Given the description of an element on the screen output the (x, y) to click on. 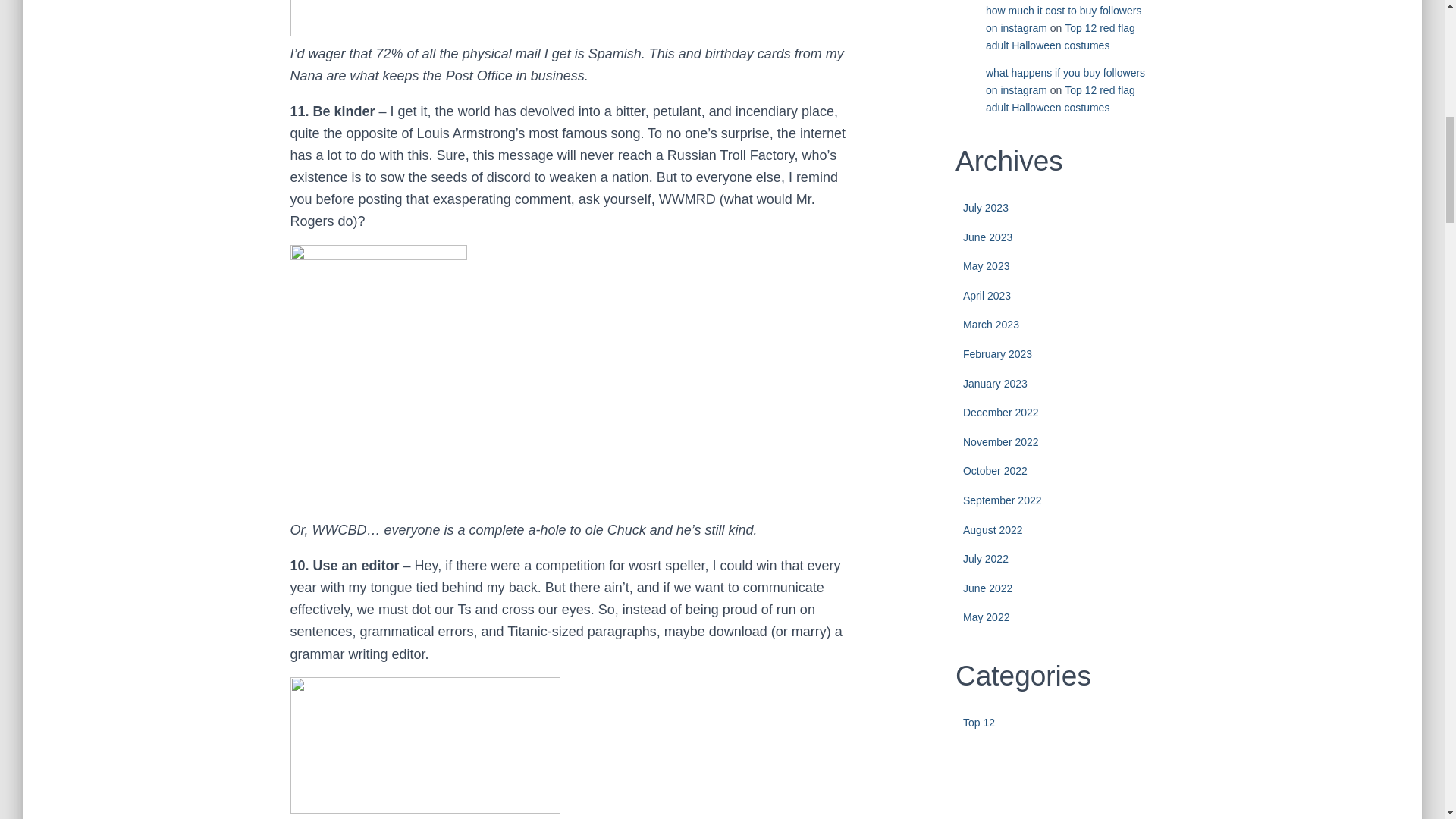
Top 12 red flag adult Halloween costumes (1060, 36)
March 2023 (990, 324)
July 2023 (985, 207)
January 2023 (994, 383)
how much it cost to buy followers on instagram (1063, 19)
May 2023 (985, 265)
what happens if you buy followers on instagram (1064, 81)
June 2023 (986, 236)
February 2023 (997, 354)
April 2023 (986, 295)
